Given the description of an element on the screen output the (x, y) to click on. 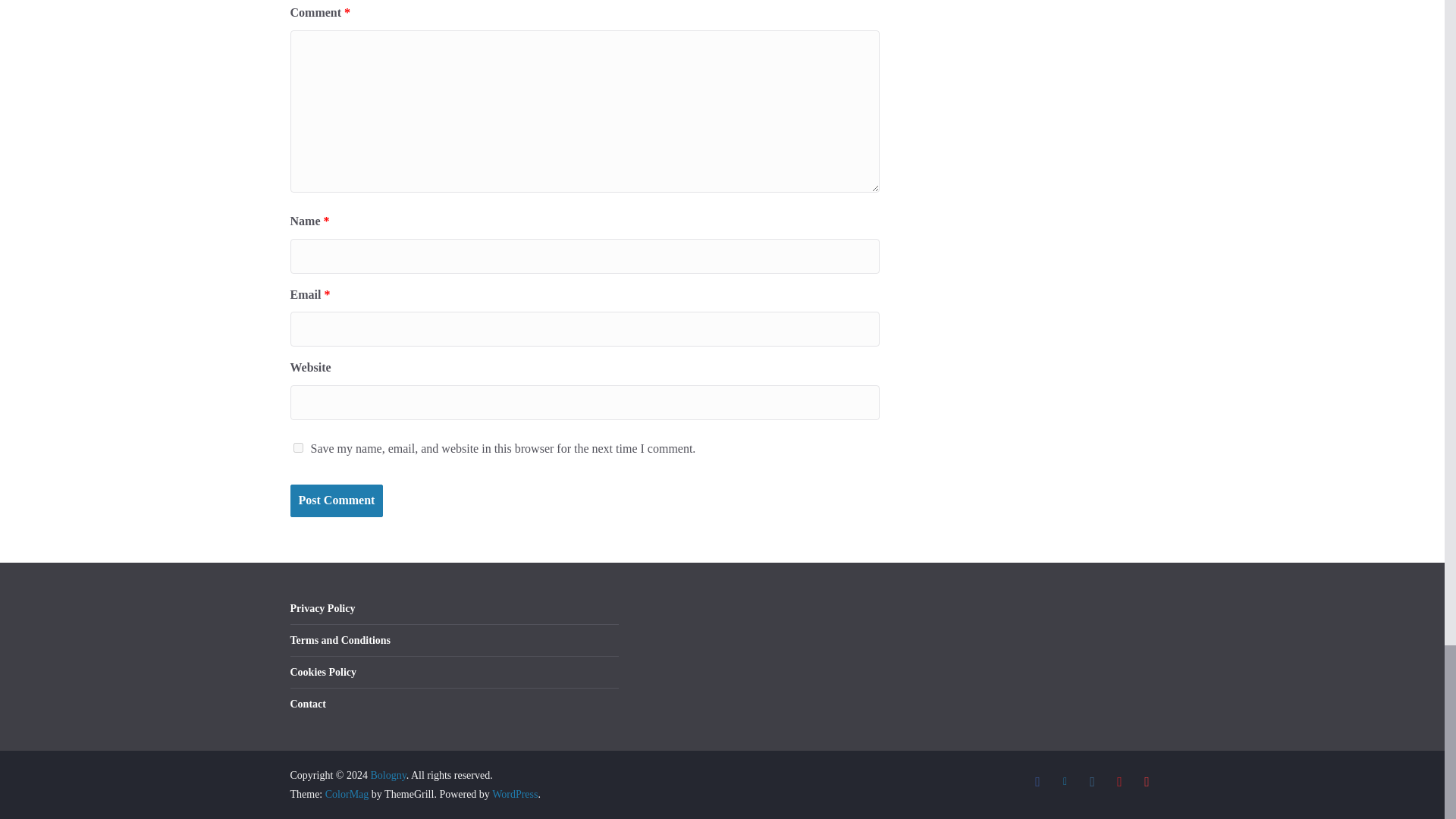
Post Comment (335, 500)
Post Comment (335, 500)
yes (297, 447)
